Given the description of an element on the screen output the (x, y) to click on. 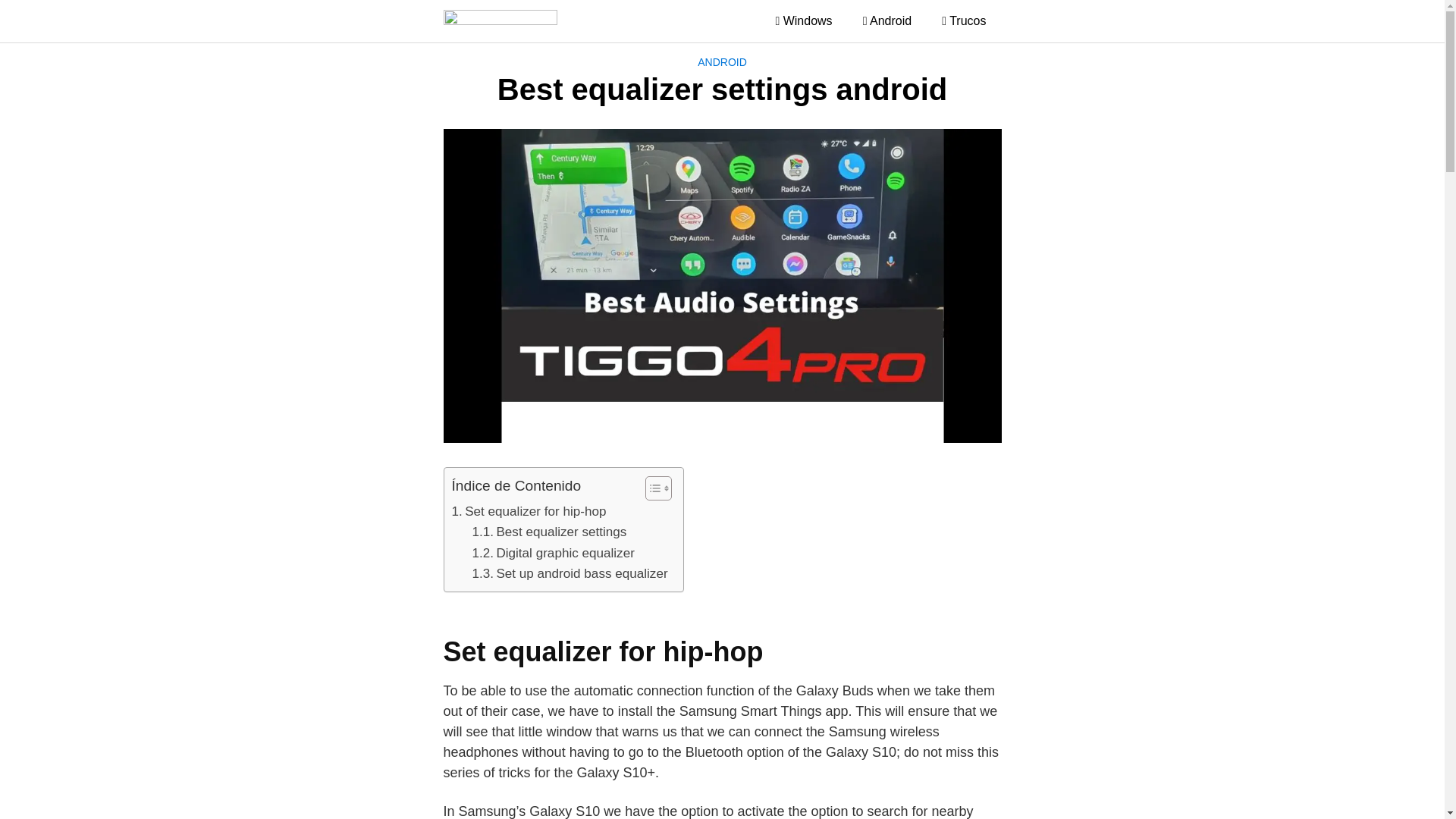
Set up android bass equalizer (568, 573)
Digital graphic equalizer (552, 552)
ANDROID (721, 61)
Best equalizer settings (548, 531)
Set equalizer for hip-hop (529, 511)
Best equalizer settings (548, 531)
Digital graphic equalizer (552, 552)
Set equalizer for hip-hop (529, 511)
Set up android bass equalizer (568, 573)
